Given the description of an element on the screen output the (x, y) to click on. 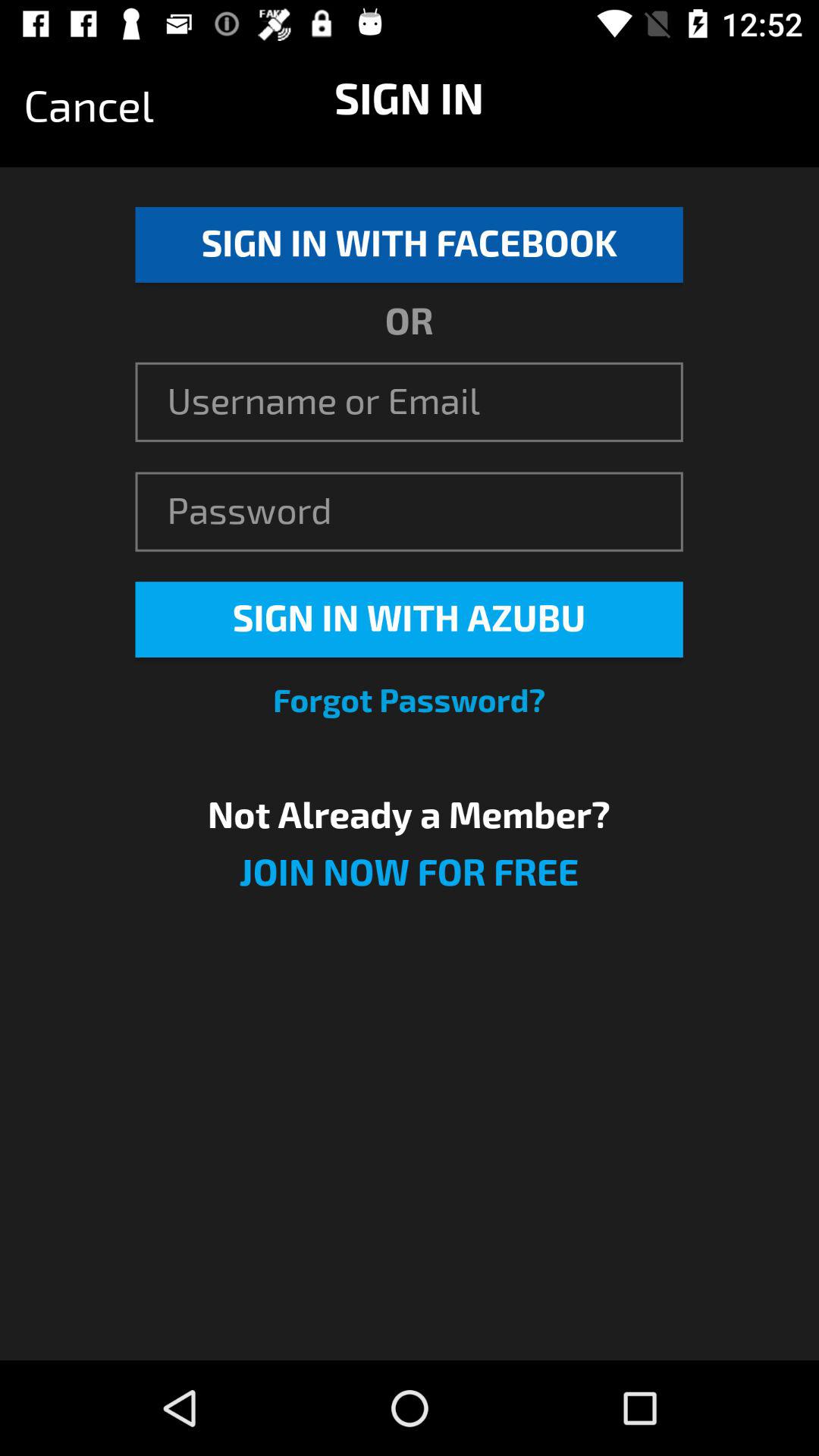
turn on item below not already a (408, 882)
